Given the description of an element on the screen output the (x, y) to click on. 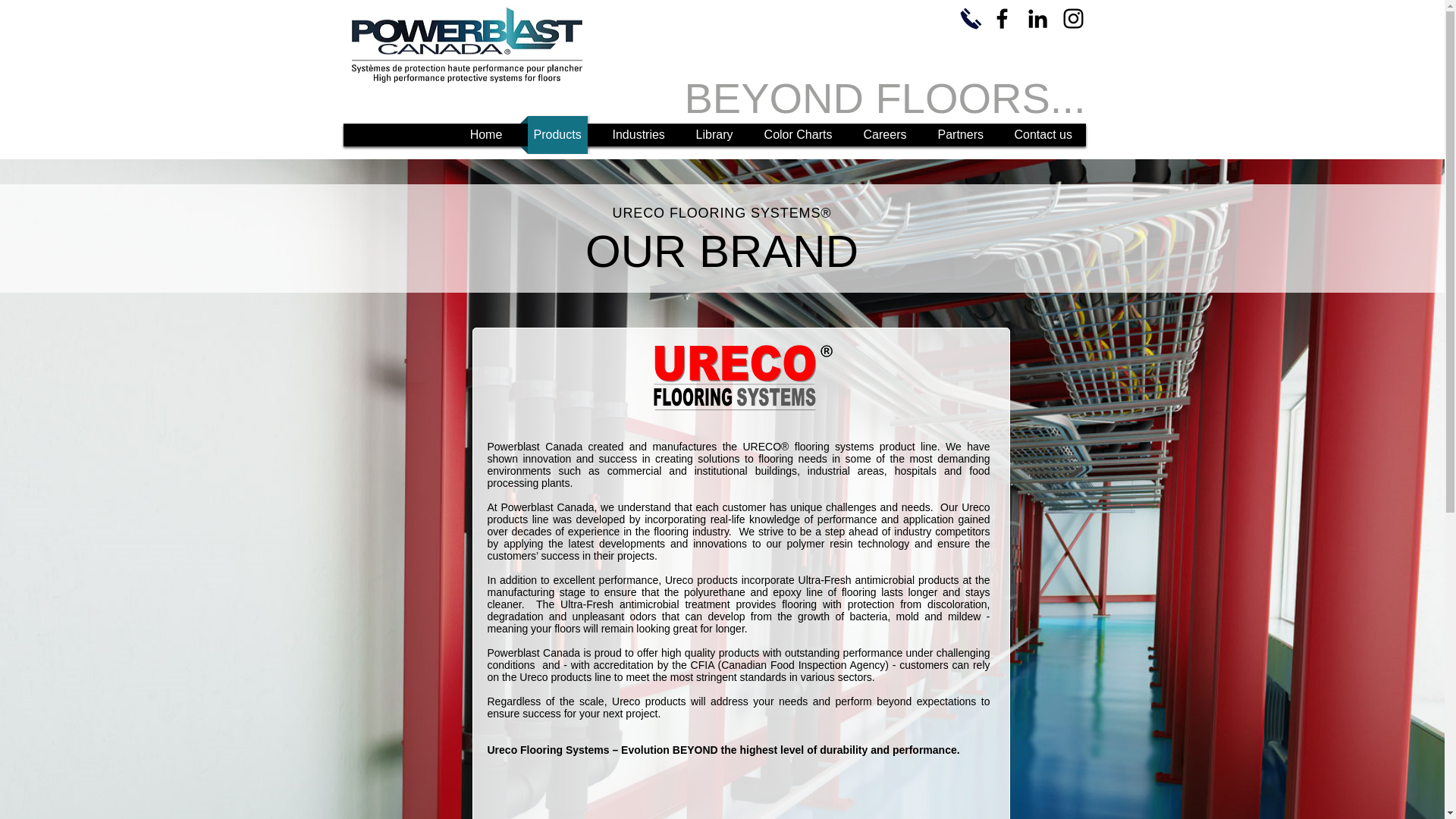
Industries (638, 134)
Color Charts (798, 134)
Library (714, 134)
Careers (884, 134)
Partners (959, 134)
Contact us (1043, 134)
Home (486, 134)
Products (557, 134)
